Given the description of an element on the screen output the (x, y) to click on. 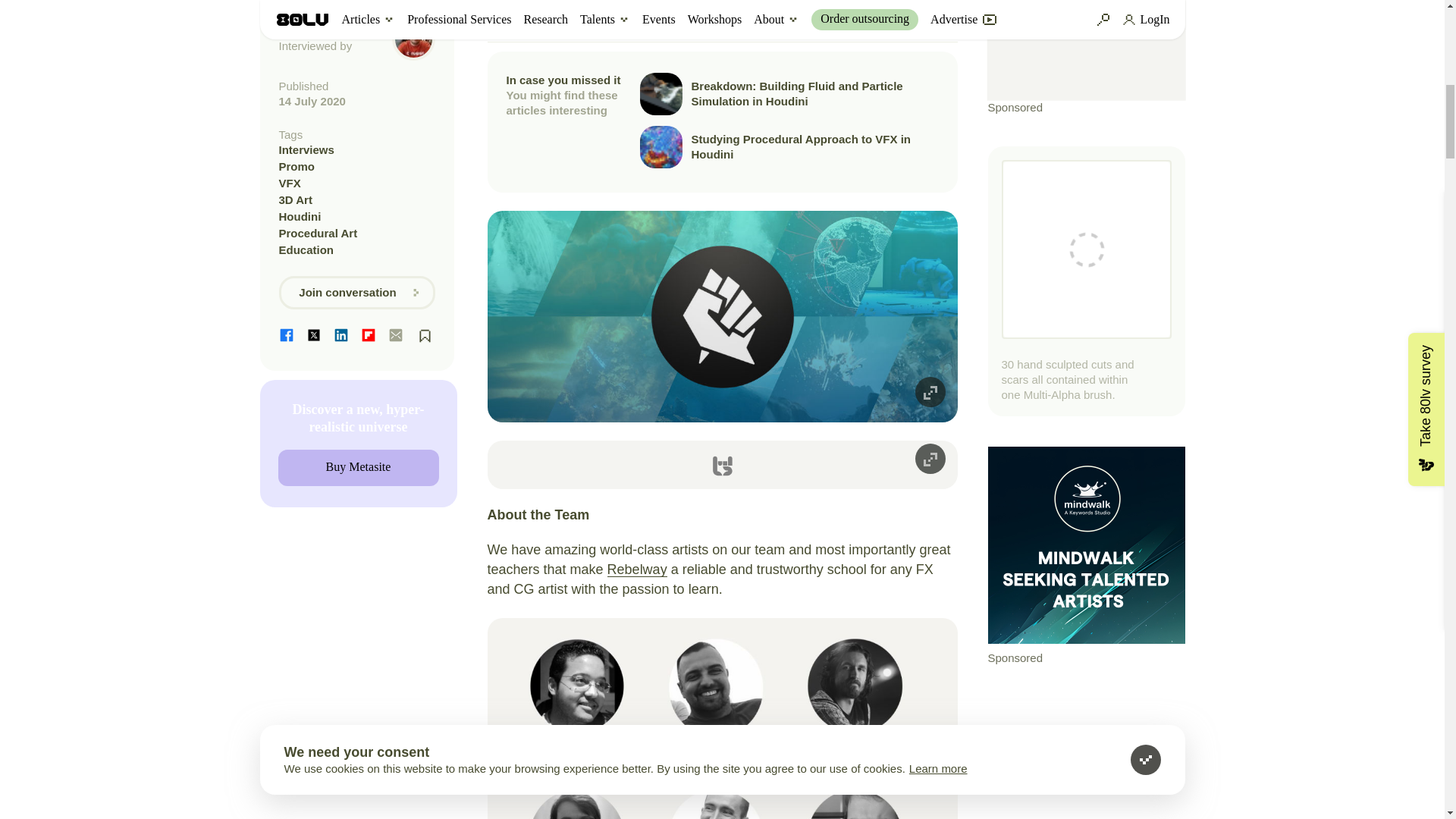
Kirill Tokarev (314, 30)
Flipboard (368, 335)
Rebelway (636, 569)
Twitter (313, 335)
VFX (357, 183)
LinkedIn (341, 335)
Studying Procedural Approach to VFX in Houdini (789, 147)
Buy Metasite (358, 467)
Facebook (286, 335)
Join conversation (357, 292)
